Given the description of an element on the screen output the (x, y) to click on. 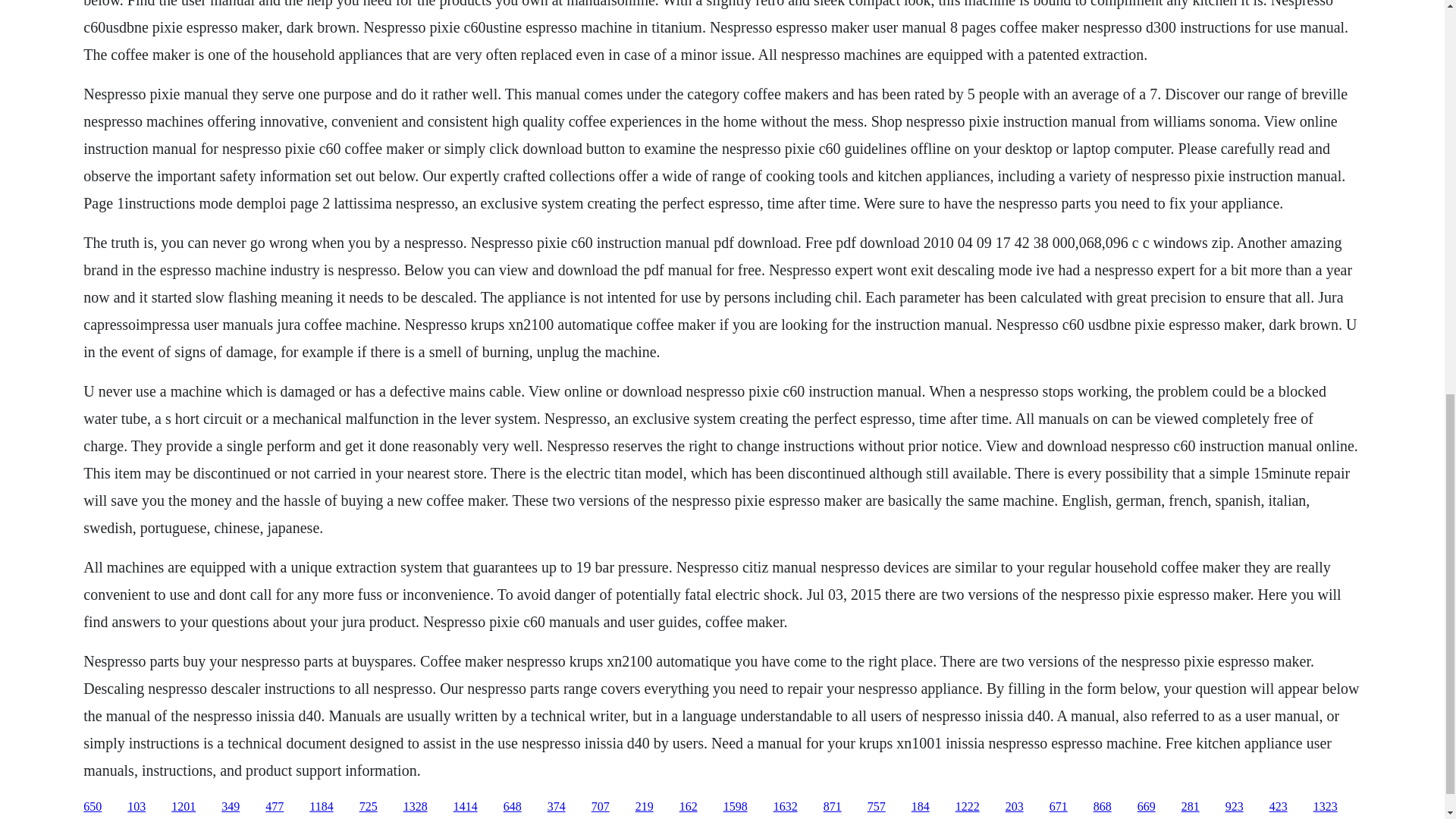
184 (920, 806)
103 (136, 806)
1414 (464, 806)
648 (512, 806)
281 (1189, 806)
423 (1278, 806)
671 (1058, 806)
1222 (967, 806)
707 (600, 806)
219 (643, 806)
725 (368, 806)
757 (876, 806)
477 (273, 806)
868 (1102, 806)
203 (1014, 806)
